Given the description of an element on the screen output the (x, y) to click on. 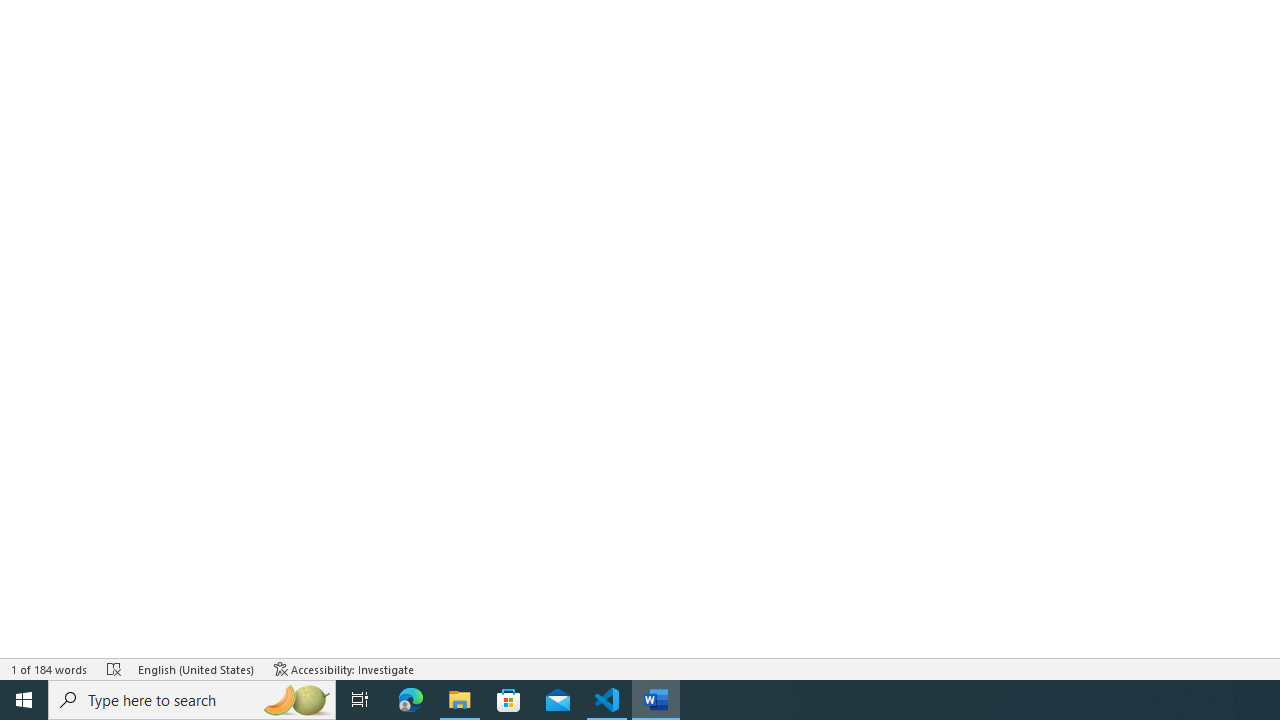
Word Count 1 of 184 words (49, 668)
